Given the description of an element on the screen output the (x, y) to click on. 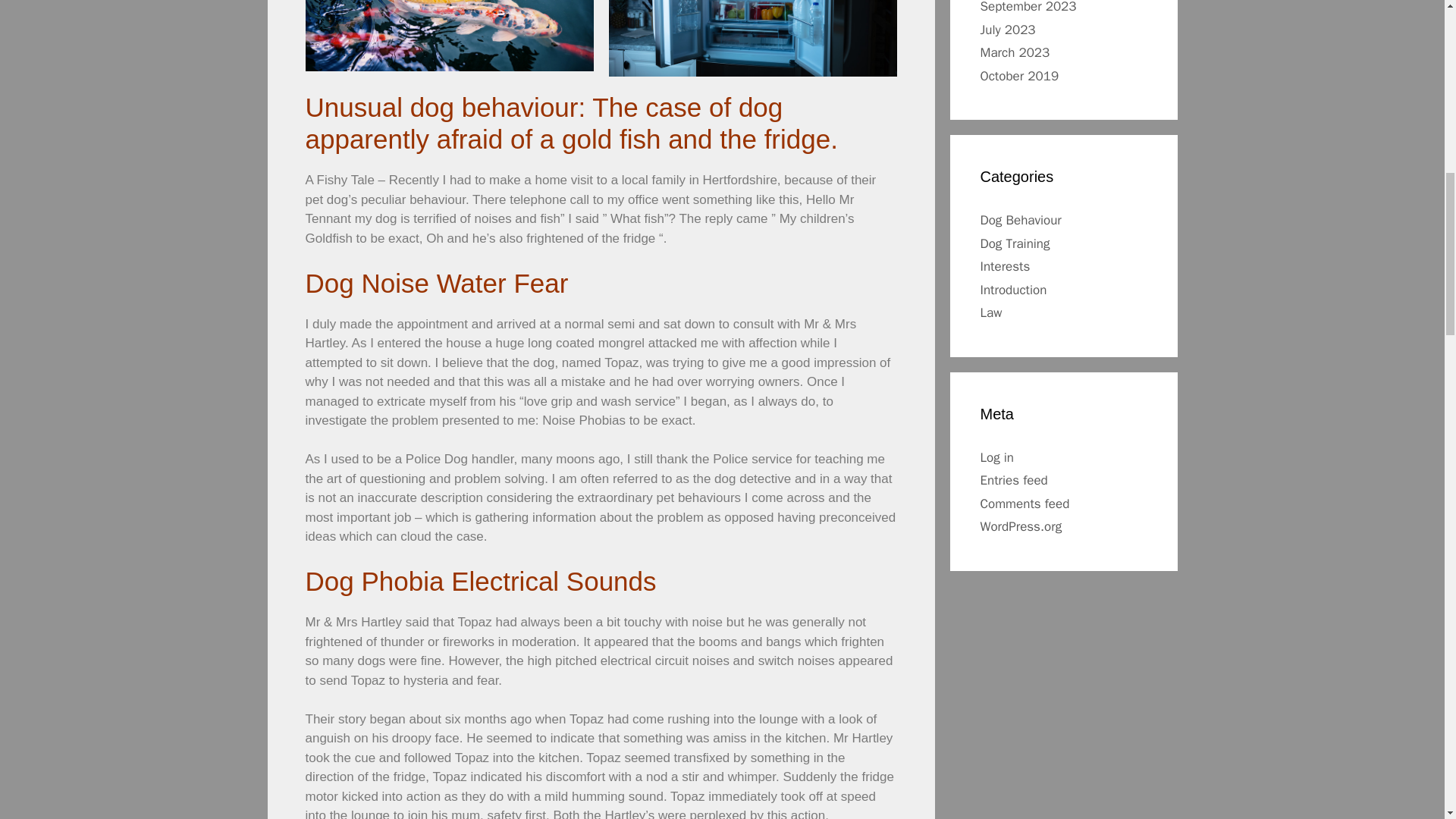
October 2019 (1018, 75)
September 2023 (1027, 7)
March 2023 (1014, 52)
Dog Behaviour (1020, 220)
July 2023 (1007, 28)
